Given the description of an element on the screen output the (x, y) to click on. 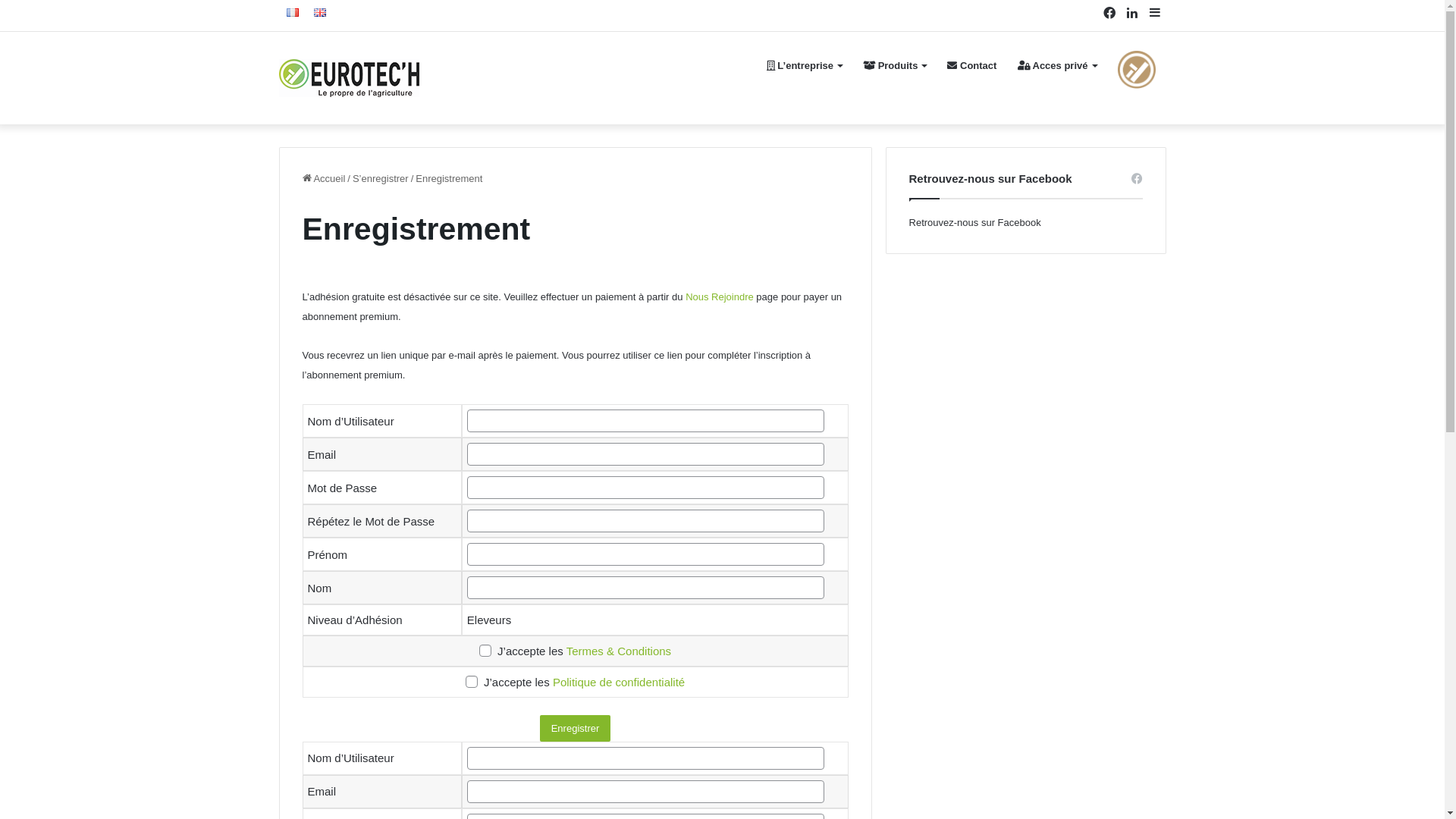
Linkedin Element type: text (1131, 13)
Nous Rejoindre Element type: text (719, 296)
Contact Element type: text (971, 65)
Produits Element type: text (894, 65)
Termes & Conditions Element type: text (618, 650)
Enregistrer Element type: text (575, 728)
Retrouvez-nous sur Facebook Element type: text (975, 222)
Eurotec'h Element type: hover (349, 78)
Facebook Element type: text (1109, 13)
Accueil Element type: text (323, 178)
